Given the description of an element on the screen output the (x, y) to click on. 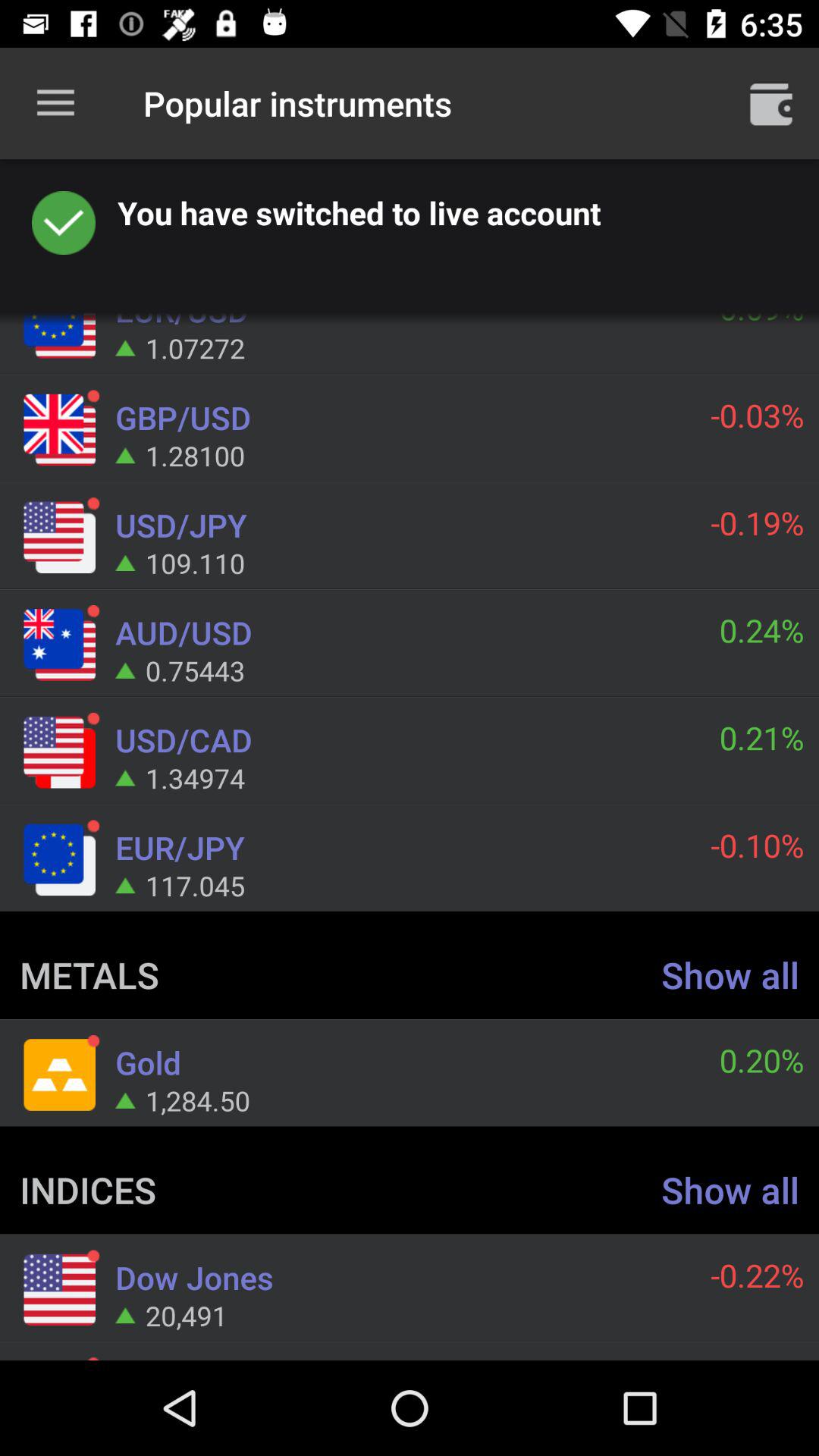
view portfolio (771, 103)
